Given the description of an element on the screen output the (x, y) to click on. 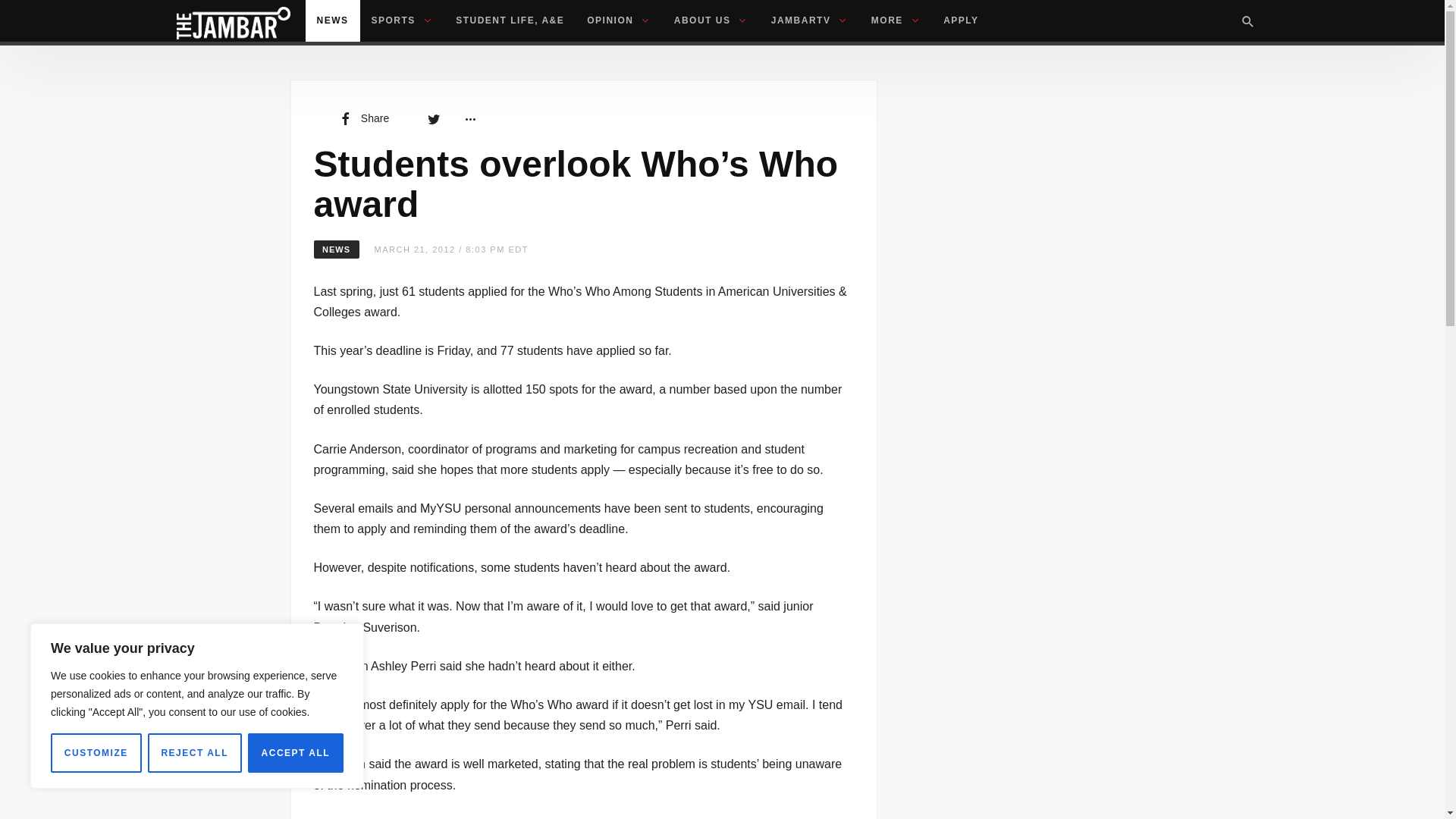
CUSTOMIZE (95, 753)
ABOUT US (711, 20)
SPORTS (401, 20)
MORE (895, 20)
OPINION (618, 20)
View all posts in News (336, 249)
Share on Facebook (363, 118)
REJECT ALL (194, 753)
ACCEPT ALL (295, 753)
Share on Twitter (433, 118)
